Given the description of an element on the screen output the (x, y) to click on. 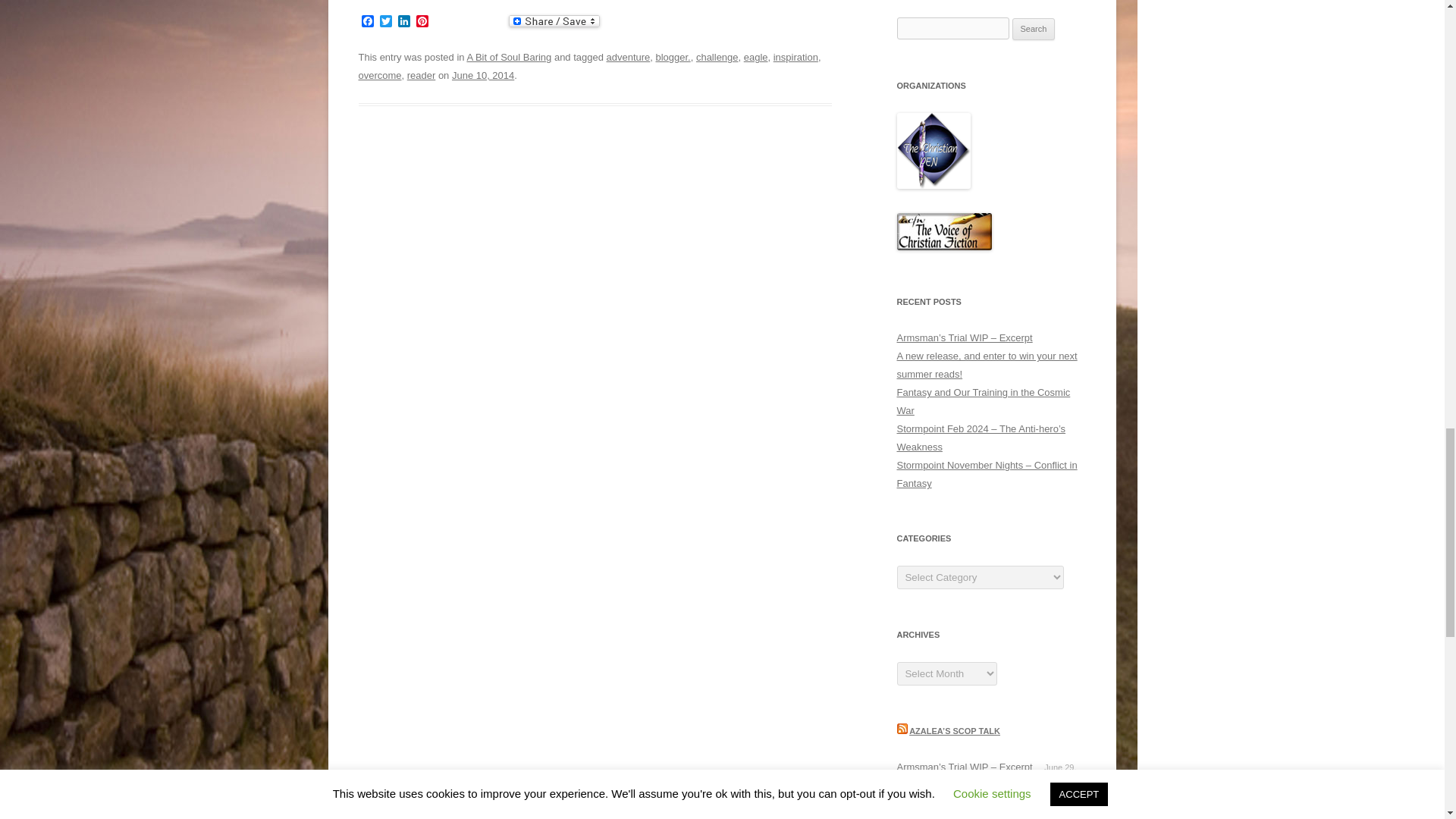
LinkedIn (403, 22)
overcome (379, 75)
1:56 am (482, 75)
Twitter (384, 22)
Search (1033, 29)
June 10, 2014 (482, 75)
blogger. (672, 57)
reader (421, 75)
Pinterest (421, 22)
A Bit of Soul Baring (508, 57)
Pinterest (421, 22)
adventure (628, 57)
eagle (756, 57)
challenge (716, 57)
Twitter (384, 22)
